Given the description of an element on the screen output the (x, y) to click on. 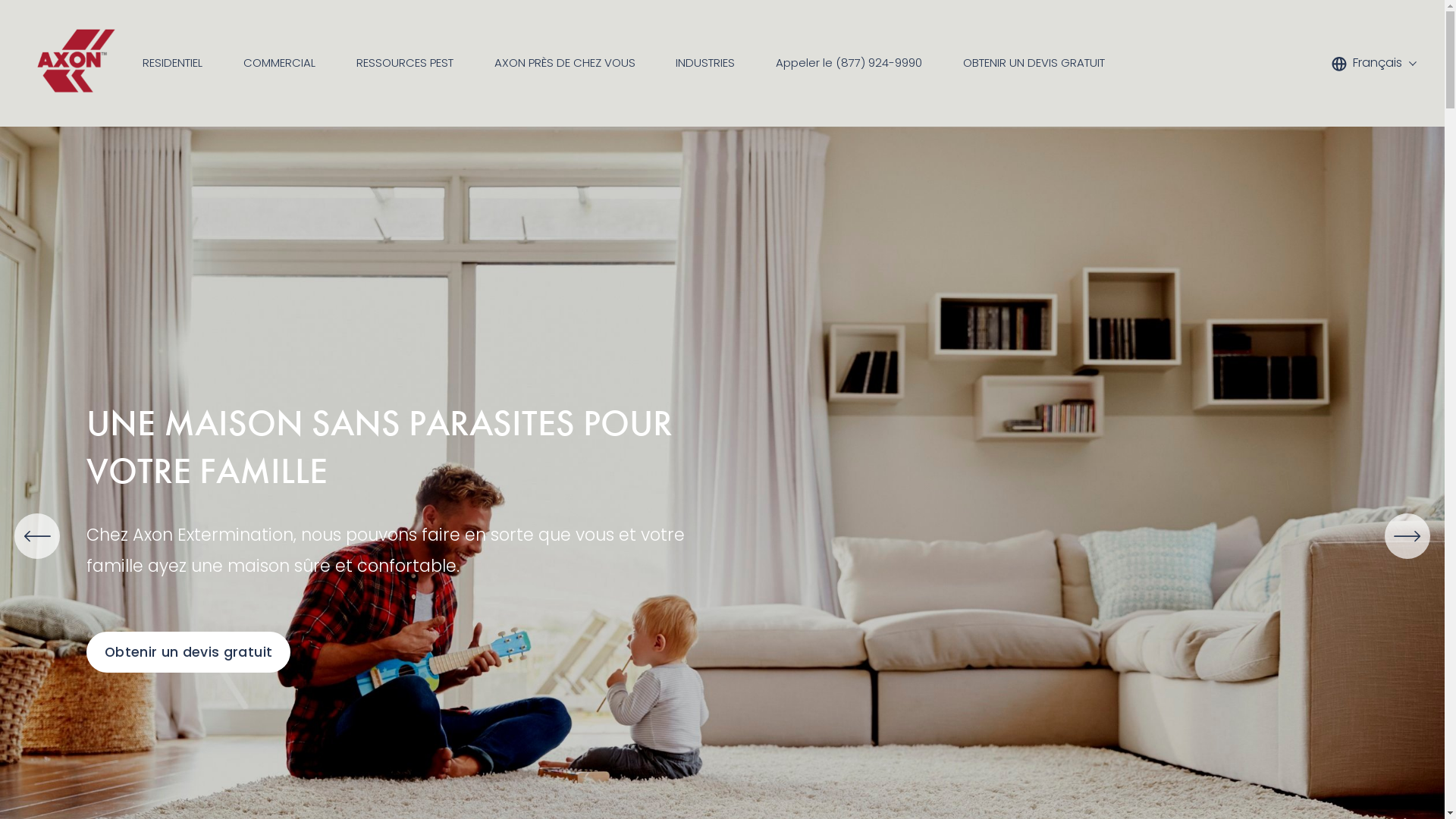
Appeler le (877) 924-9990 Element type: text (848, 63)
Obtenir un devis gratuit Element type: text (187, 651)
RESIDENTIEL Element type: text (172, 63)
COMMERCIAL Element type: text (279, 63)
INDUSTRIES Element type: text (704, 63)
OBTENIR UN DEVIS GRATUIT Element type: text (1033, 63)
RESSOURCES PEST Element type: text (404, 63)
